Given the description of an element on the screen output the (x, y) to click on. 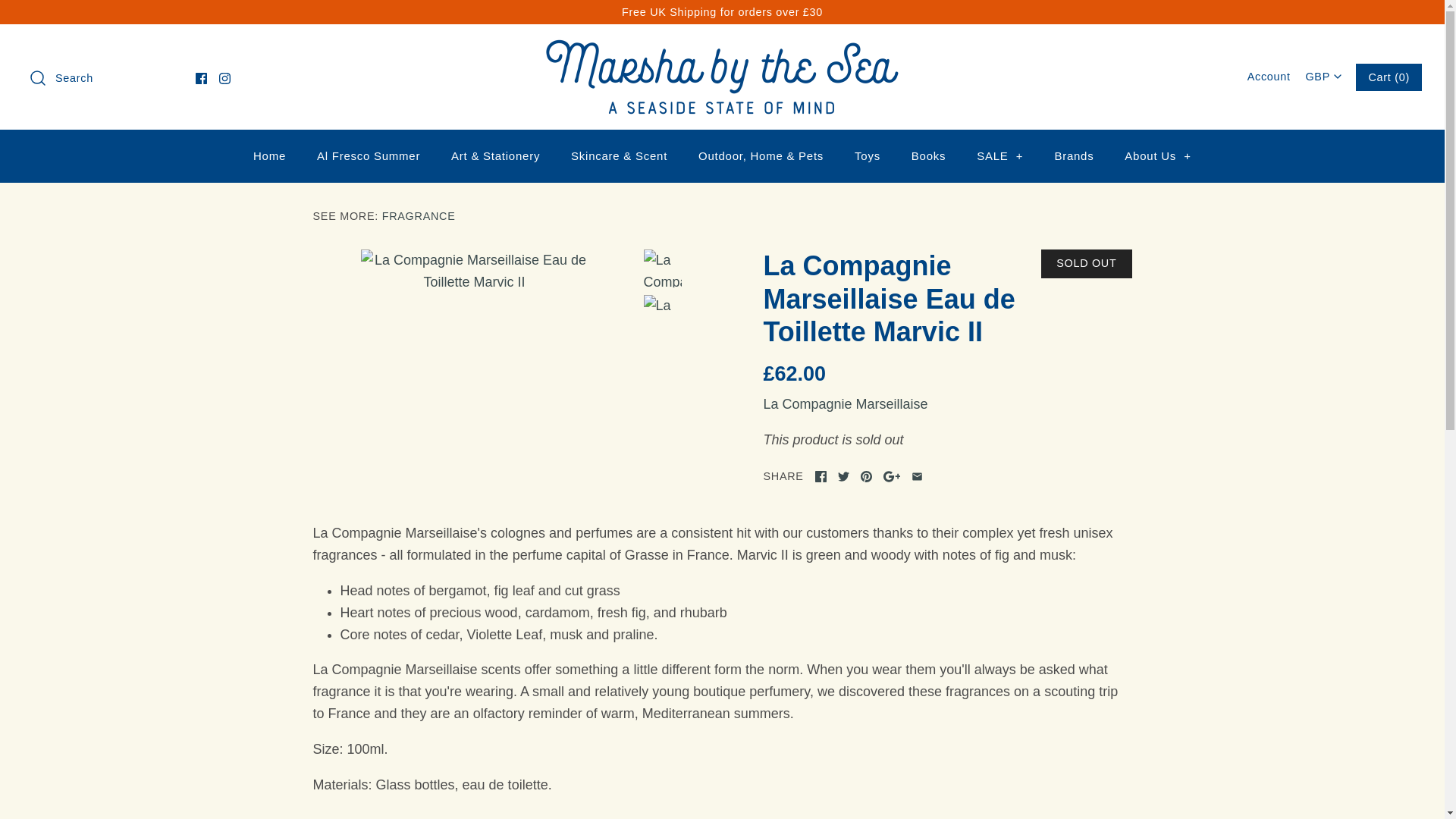
Twitter (843, 476)
Marsha By The Sea (721, 49)
Email (917, 476)
Brands (1073, 156)
Facebook (200, 78)
Pinterest (866, 476)
Instagram (224, 78)
Facebook (821, 476)
Pin the main image (866, 476)
Toys (867, 156)
Share on Facebook (821, 476)
La Compagnie Marseillaise Eau de Toillette Marvic II (662, 307)
Account (1268, 76)
Share on Twitter (843, 476)
Instagram (224, 78)
